Given the description of an element on the screen output the (x, y) to click on. 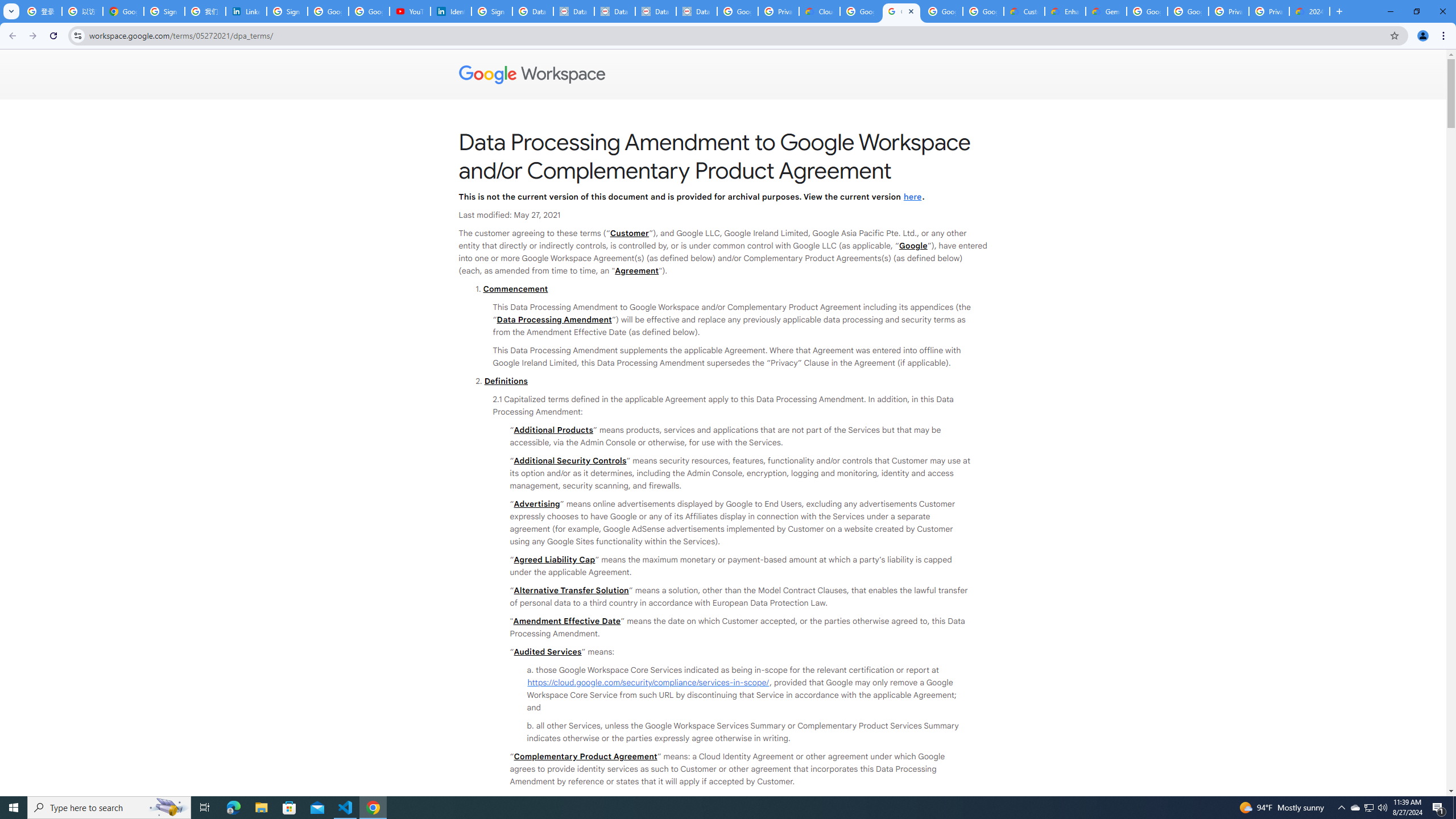
LinkedIn Privacy Policy (246, 11)
Google Workspace (723, 74)
Sign in - Google Accounts (490, 11)
Google Cloud Platform (1146, 11)
Cloud Data Processing Addendum | Google Cloud (818, 11)
